Given the description of an element on the screen output the (x, y) to click on. 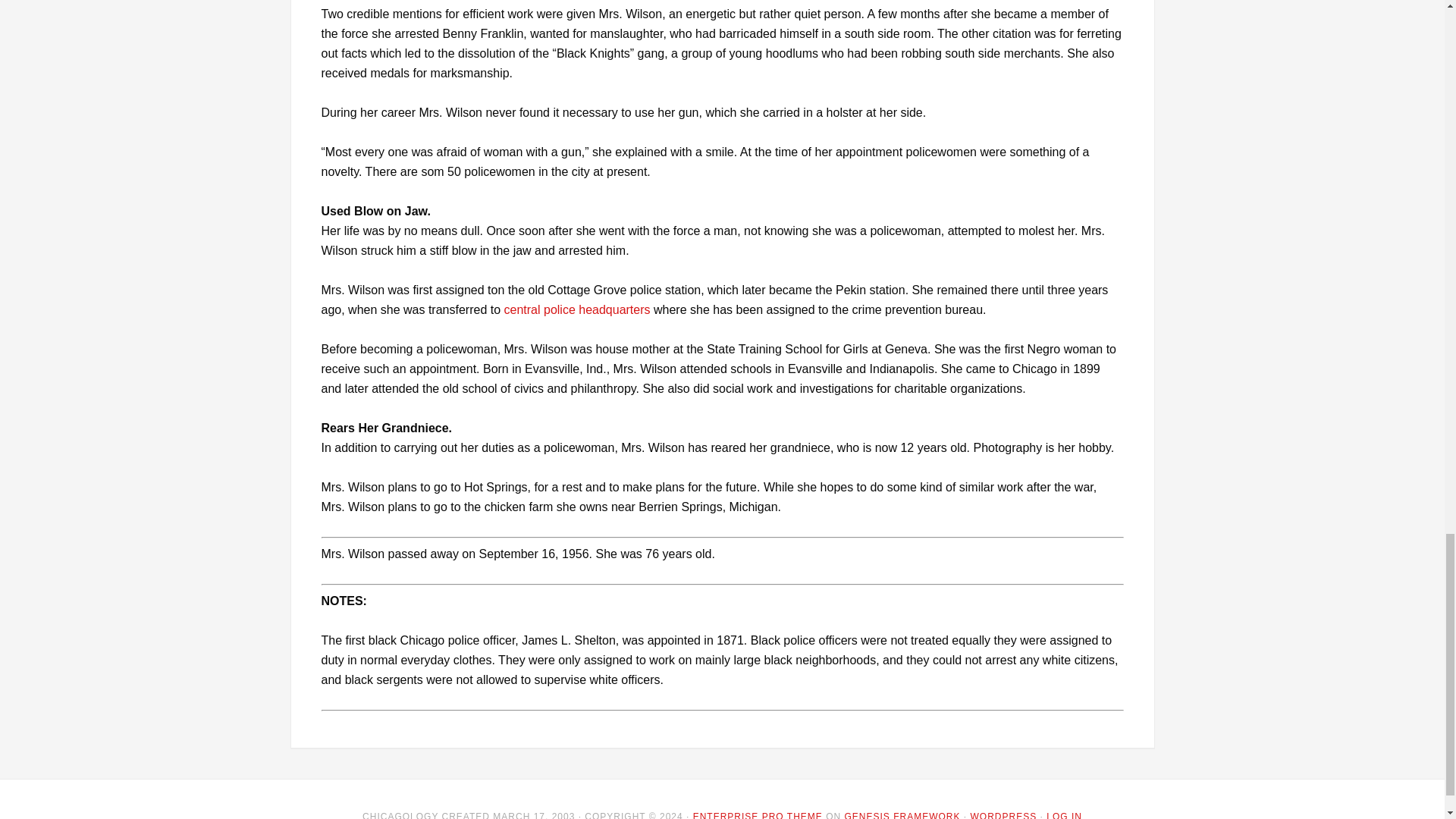
central police headquarters (576, 309)
ENTERPRISE PRO THEME (757, 815)
WORDPRESS (1003, 815)
LOG IN (1063, 815)
GENESIS FRAMEWORK (902, 815)
